Given the description of an element on the screen output the (x, y) to click on. 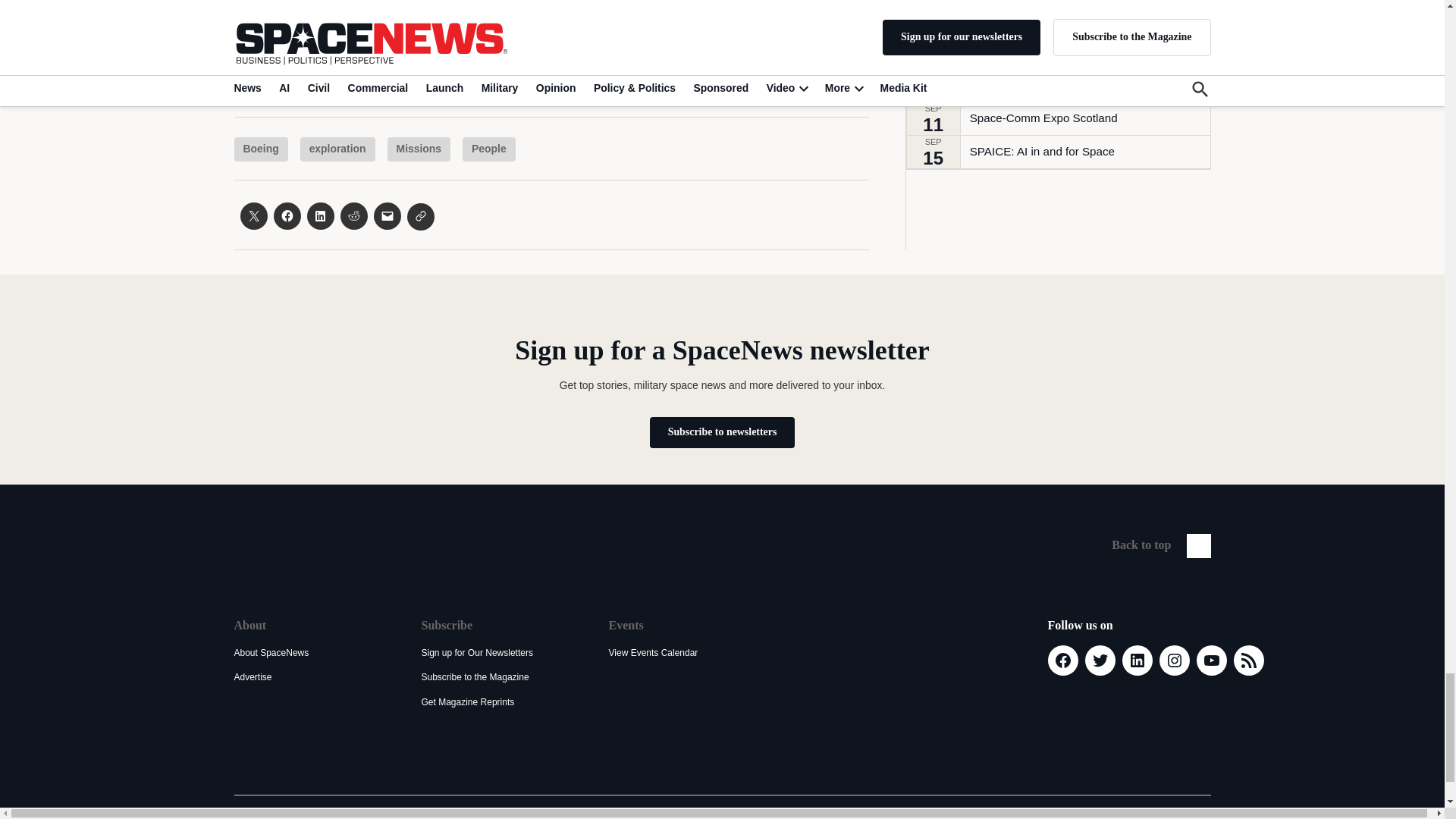
Click to share on LinkedIn (319, 215)
Click to share on X (253, 215)
Click to share on Clipboard (419, 216)
Click to share on Reddit (352, 215)
Click to share on Facebook (286, 215)
Click to email a link to a friend (386, 215)
